Given the description of an element on the screen output the (x, y) to click on. 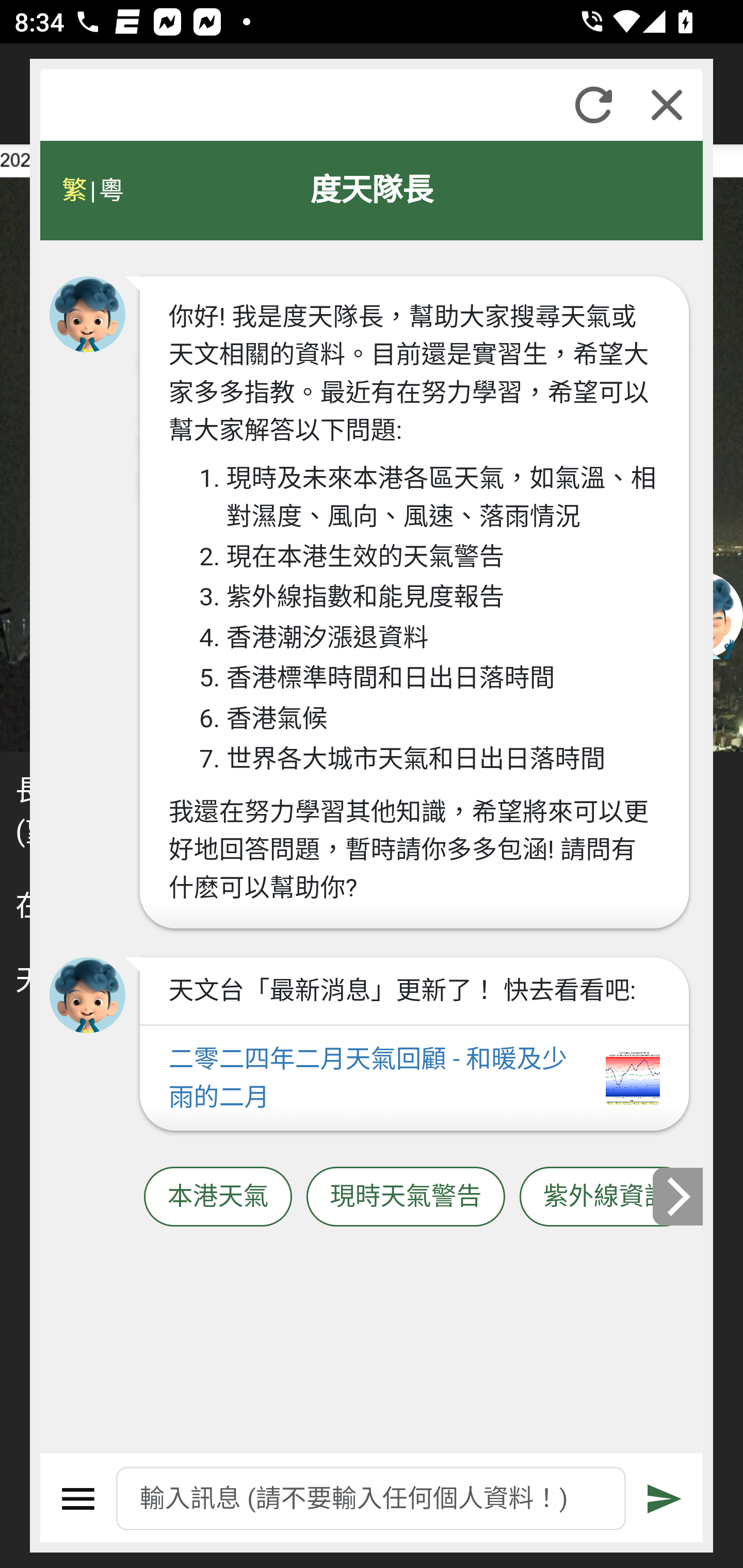
重新整理 (593, 104)
關閉 (666, 104)
繁 (73, 190)
粵 (110, 190)
二零二四年二月天氣回顧 - 和暖及少雨的二月 (413, 1078)
本港天氣 (217, 1196)
現時天氣警告 (405, 1196)
紫外線資訊 (605, 1196)
下一張 (678, 1196)
選單 (78, 1498)
遞交 (665, 1498)
